Given the description of an element on the screen output the (x, y) to click on. 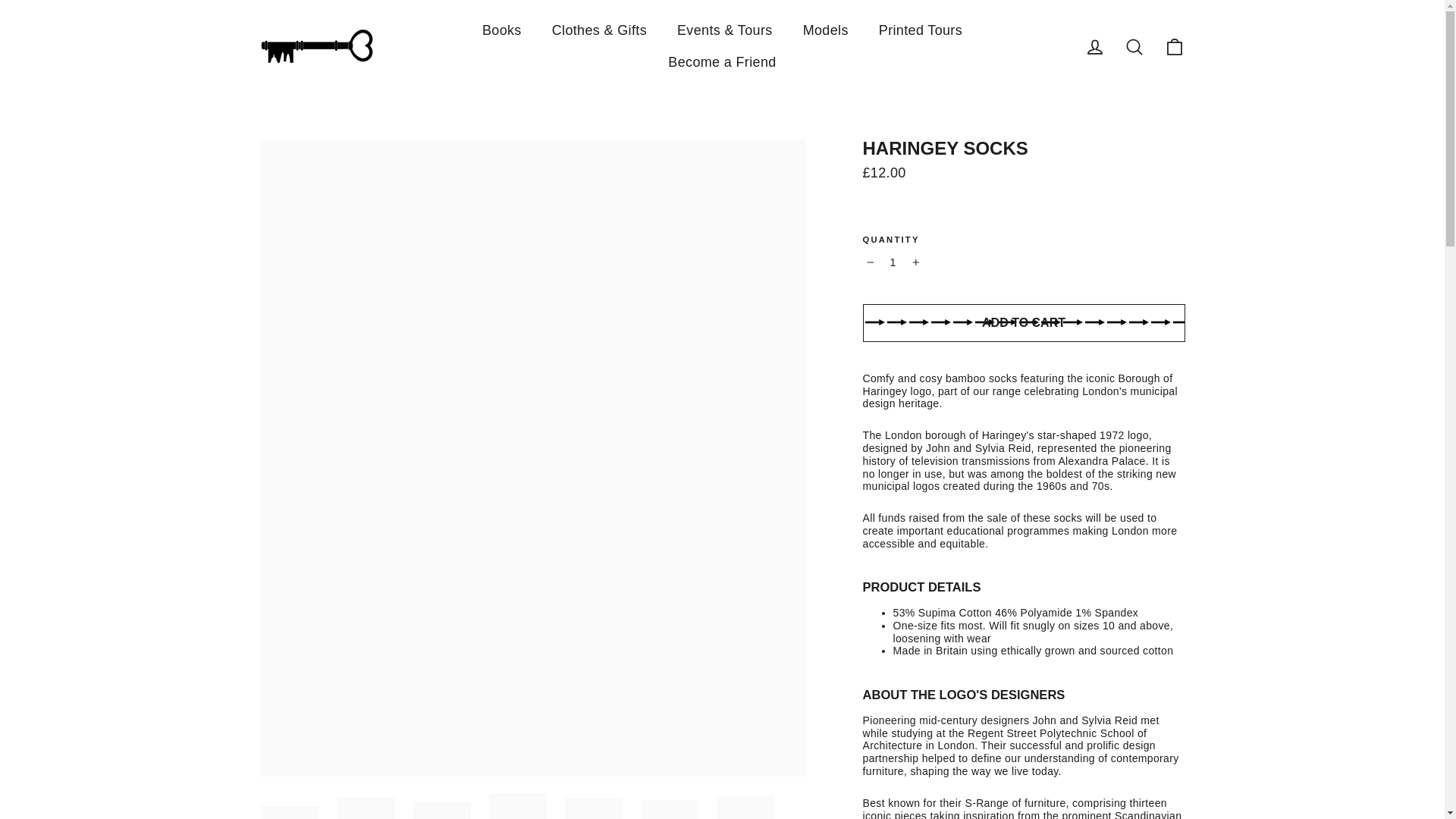
Models (825, 30)
Search (1134, 46)
Cart (1173, 46)
Printed Tours (919, 30)
Log in (1095, 46)
Become a Friend (721, 62)
Books (502, 30)
1 (893, 262)
